Given the description of an element on the screen output the (x, y) to click on. 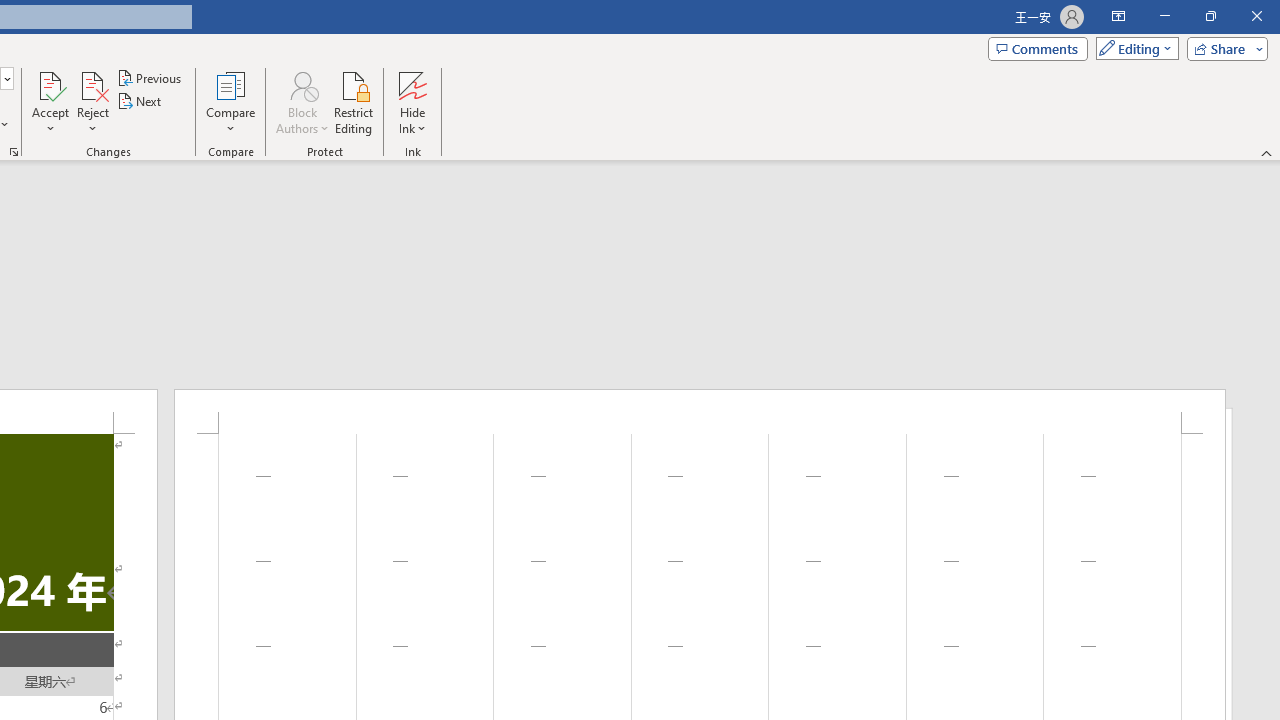
Hide Ink (412, 102)
Restrict Editing (353, 102)
Block Authors (302, 84)
Reject and Move to Next (92, 84)
Next (140, 101)
